Given the description of an element on the screen output the (x, y) to click on. 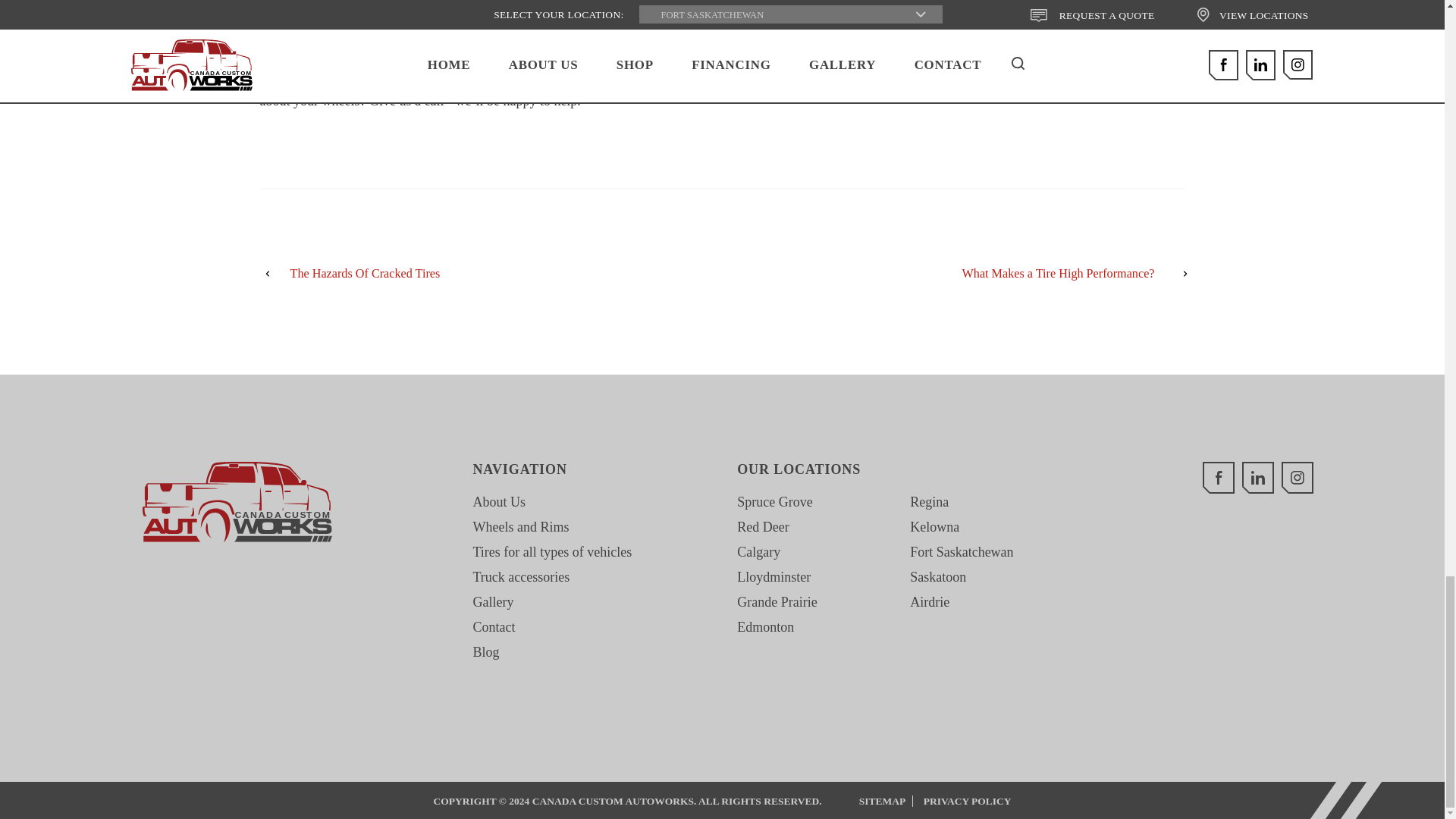
Truck accessories (520, 576)
Spruce Grove (774, 501)
Lloydminster (773, 576)
About Us (236, 501)
The Hazards Of Cracked Tires (498, 501)
Calgary (447, 273)
Edmonton (758, 551)
Wheels and Rims (764, 626)
Tires for all types of vehicles (520, 526)
What Makes a Tire High Performance? (551, 551)
Red Deer (996, 273)
Canada Custom Autoworks (762, 526)
Regina (237, 501)
